Given the description of an element on the screen output the (x, y) to click on. 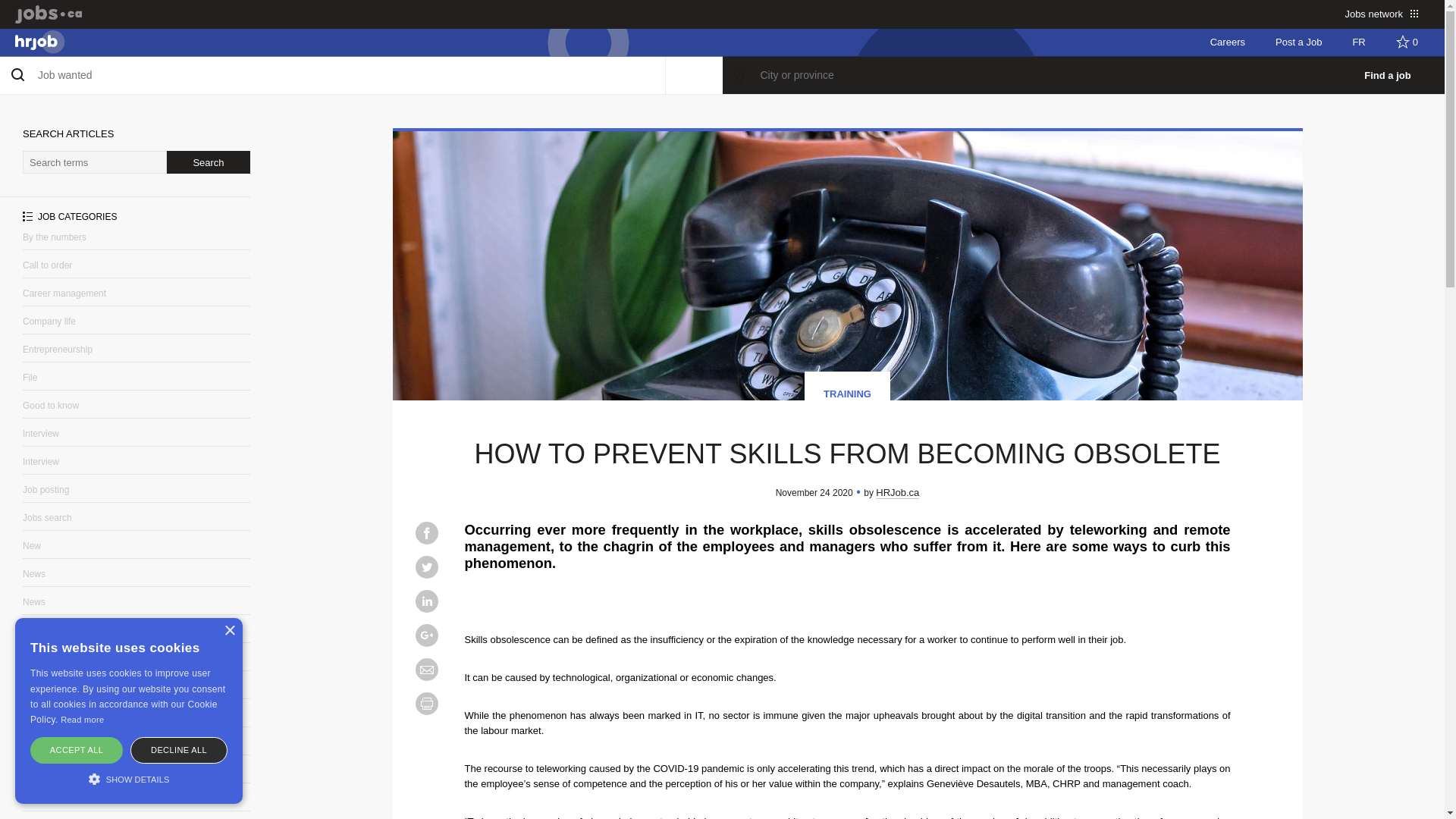
FR (1357, 41)
share-print (426, 703)
share-email (426, 669)
share-email (426, 669)
Jobs network (1381, 13)
share-print (426, 703)
share-linkedin (426, 600)
share-twitter (426, 567)
share-facebook (426, 532)
share-facebook (426, 532)
share-google (426, 635)
HRJob.ca (897, 492)
Hrjob (35, 41)
share-linkedin (426, 600)
Posts by HRJob.ca (897, 492)
